Given the description of an element on the screen output the (x, y) to click on. 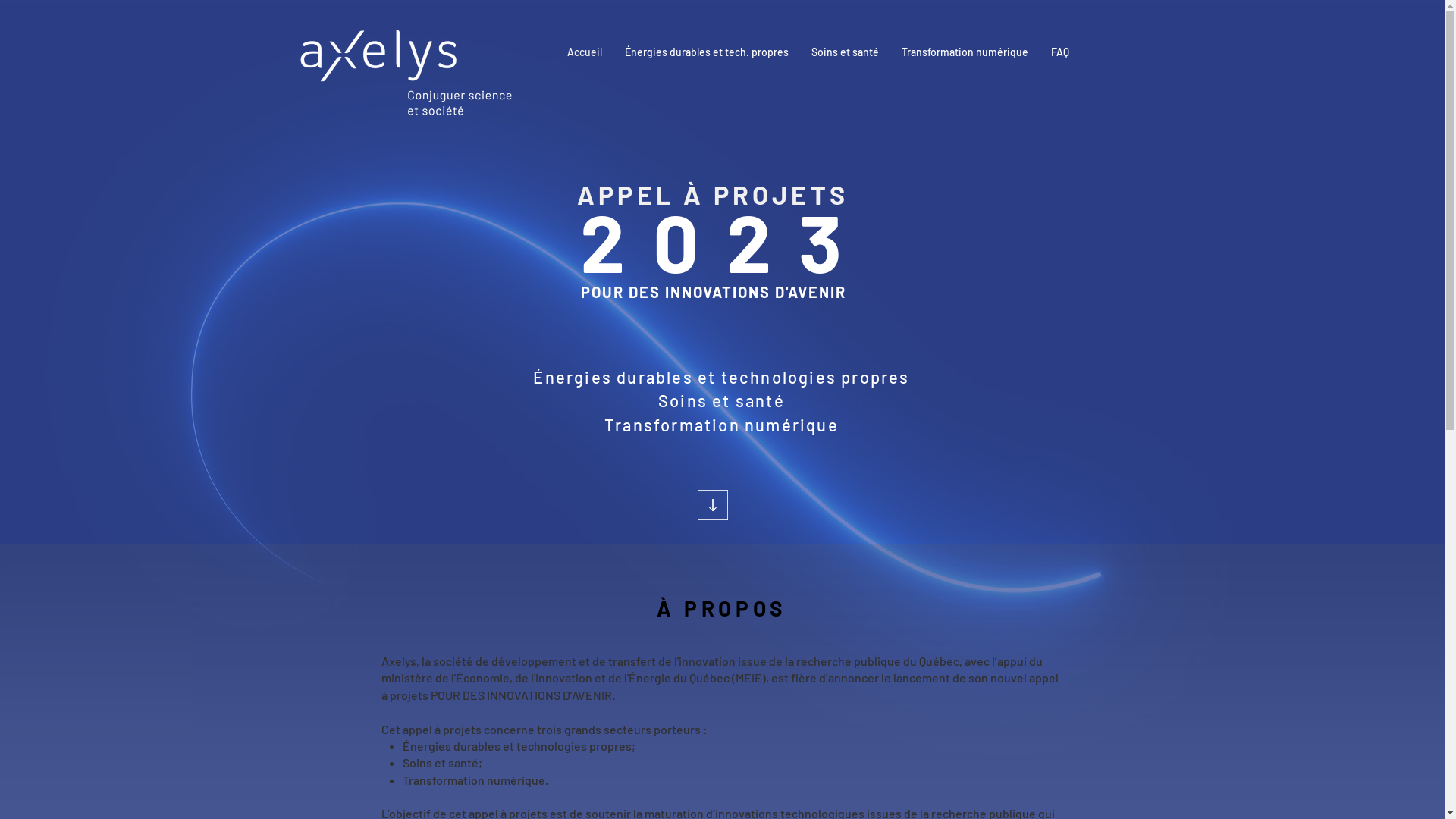
FAQ Element type: text (1058, 51)
Accueil Element type: text (583, 51)
Axelyx_lg_slogan_Rev.png Element type: hover (405, 72)
